Given the description of an element on the screen output the (x, y) to click on. 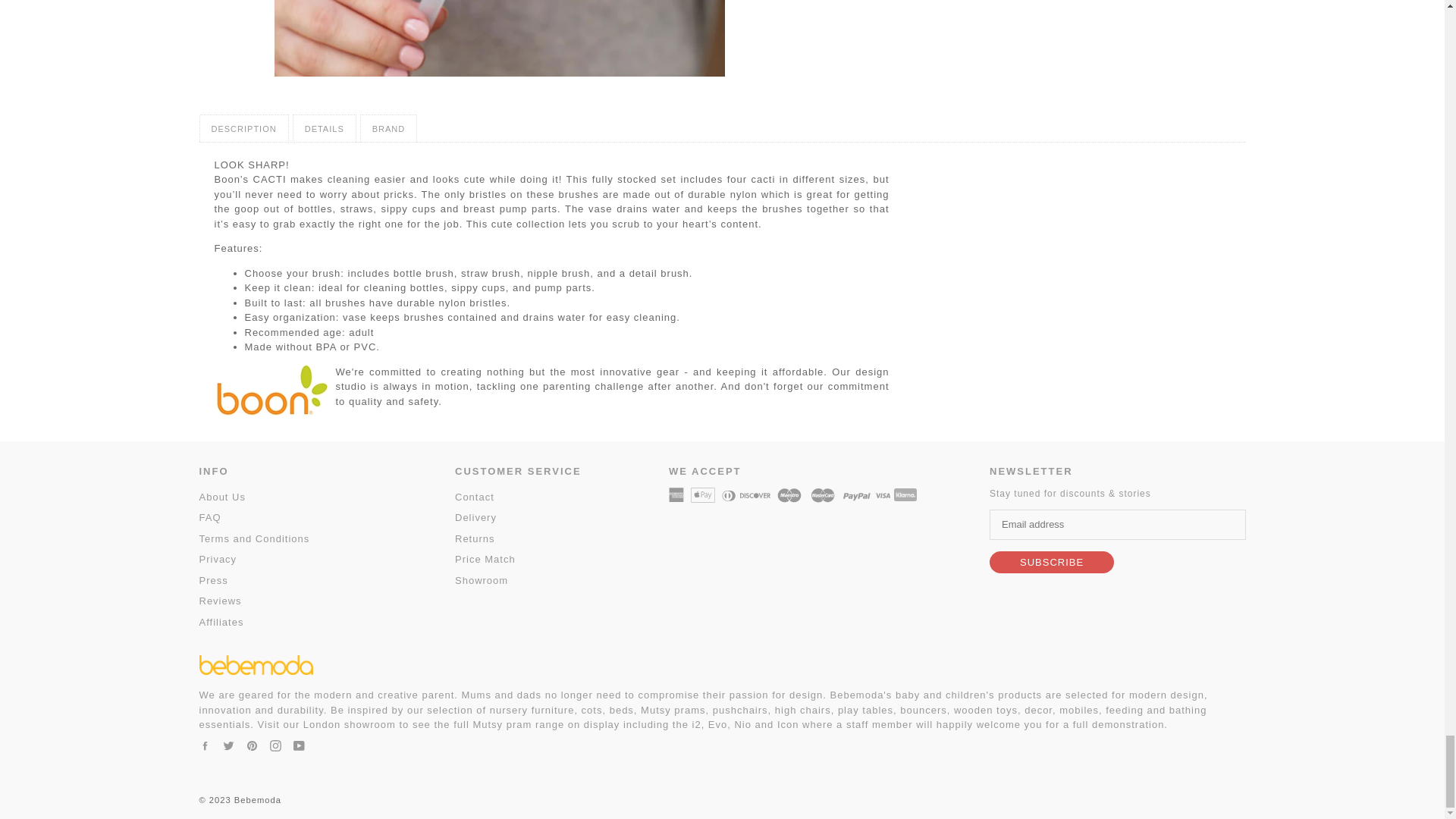
Bebemoda on Pinterest (251, 745)
Bebemoda on Instagram (274, 745)
Bebemoda on Twitter (228, 745)
Bebemoda on Facebook (203, 745)
Bebemoda on YouTube (298, 745)
